Given the description of an element on the screen output the (x, y) to click on. 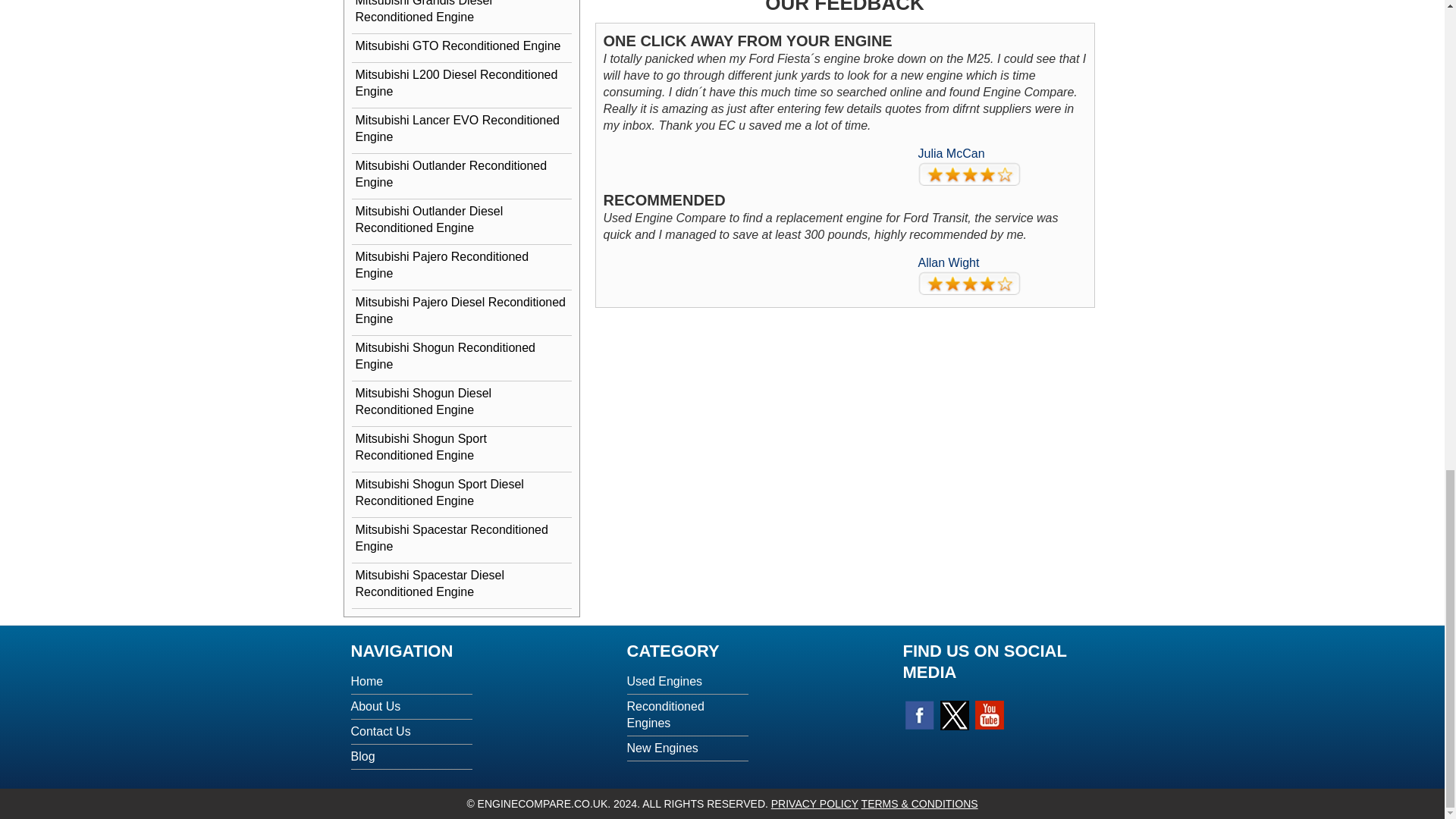
Blog (362, 756)
Engine Compare Facebook Profile (954, 715)
Mitsubishi Lancer EVO Reconditioned Engine (462, 128)
New Engines (661, 748)
Engine Compare Facebook Profile (919, 715)
Mitsubishi Pajero Diesel Reconditioned Engine (462, 310)
About Us (375, 706)
Used Engines (663, 680)
Mitsubishi GTO Reconditioned Engine (462, 46)
Mitsubishi Grandis Diesel Reconditioned Engine (462, 14)
Mitsubishi Shogun Sport Reconditioned Engine (462, 446)
Home (366, 680)
Mitsubishi Shogun Sport Diesel Reconditioned Engine (462, 492)
PRIVACY POLICY (815, 803)
Contact Us (380, 730)
